Given the description of an element on the screen output the (x, y) to click on. 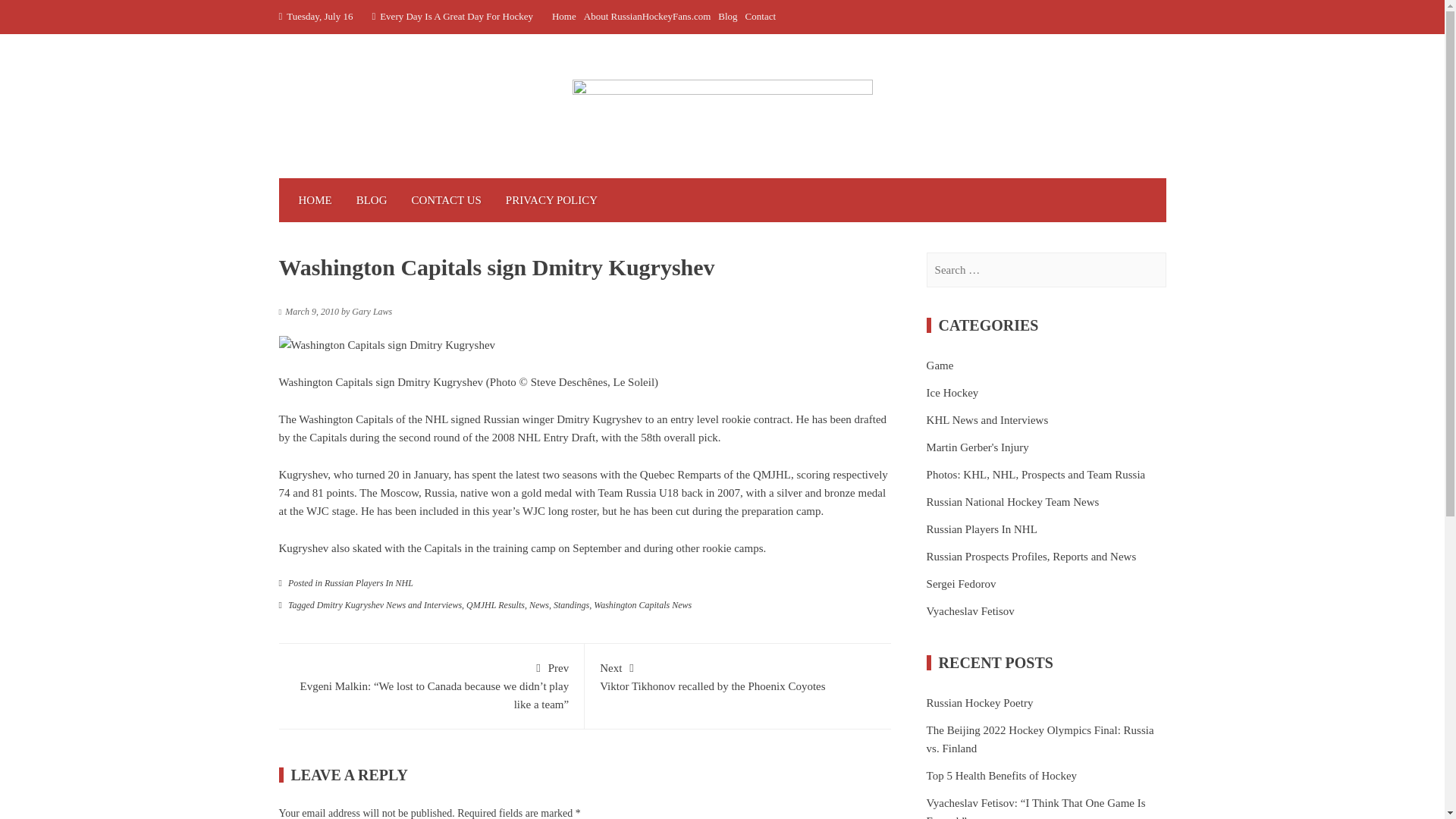
Russian Prospects Profiles, Reports and News (1031, 556)
Sergei Fedorov (960, 583)
Blog (726, 16)
PRIVACY POLICY (551, 199)
BLOG (370, 199)
Martin Gerber's Injury (977, 447)
About RussianHockeyFans.com (647, 16)
Vyacheslav Fetisov (970, 610)
Game (939, 365)
Russian Players In NHL (981, 529)
QMJHL Results, News, Standings (527, 604)
Search (30, 16)
Russian National Hockey Team News (1012, 502)
Kugryshev (304, 548)
